Given the description of an element on the screen output the (x, y) to click on. 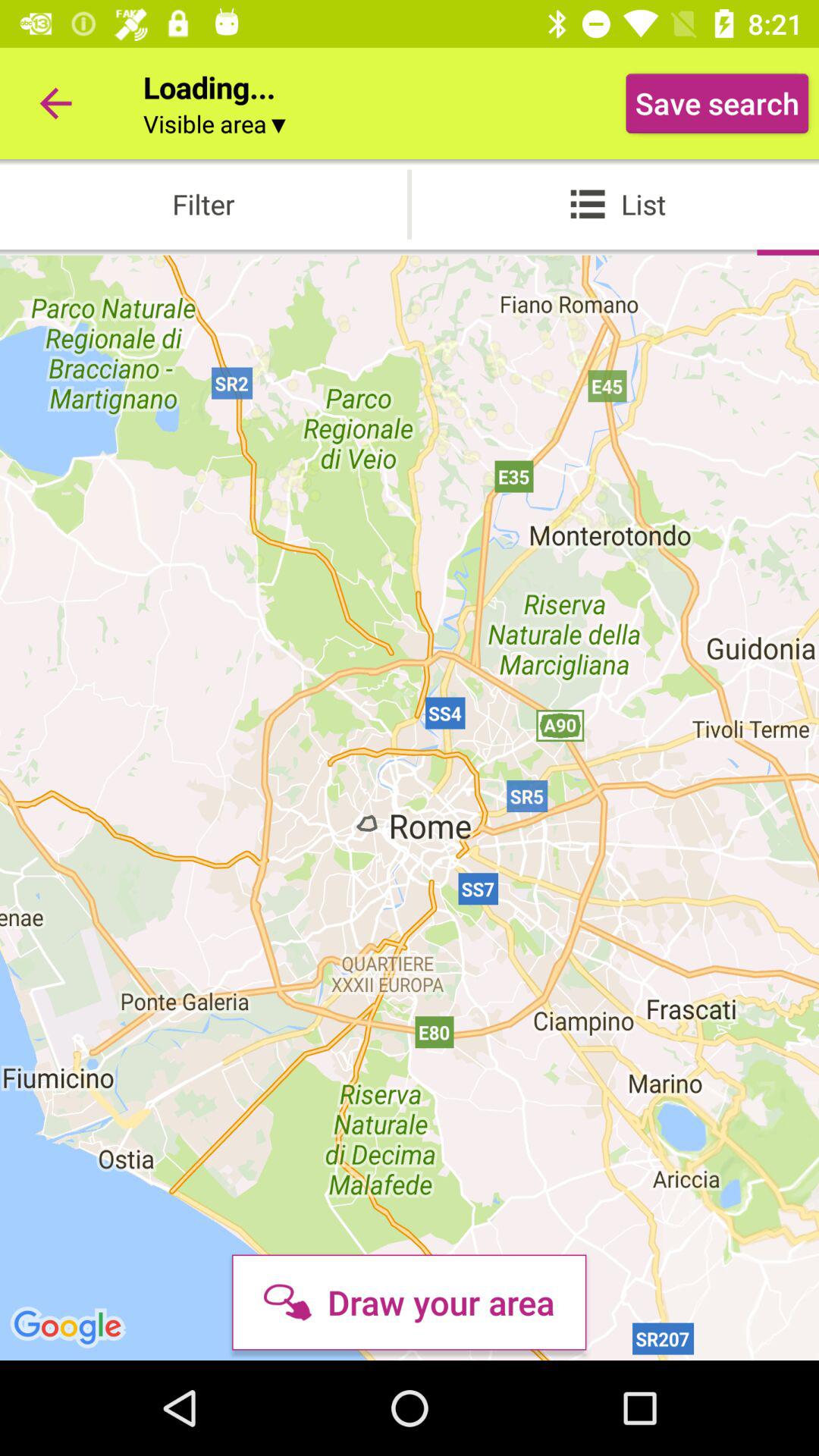
jump until the save search item (717, 103)
